Given the description of an element on the screen output the (x, y) to click on. 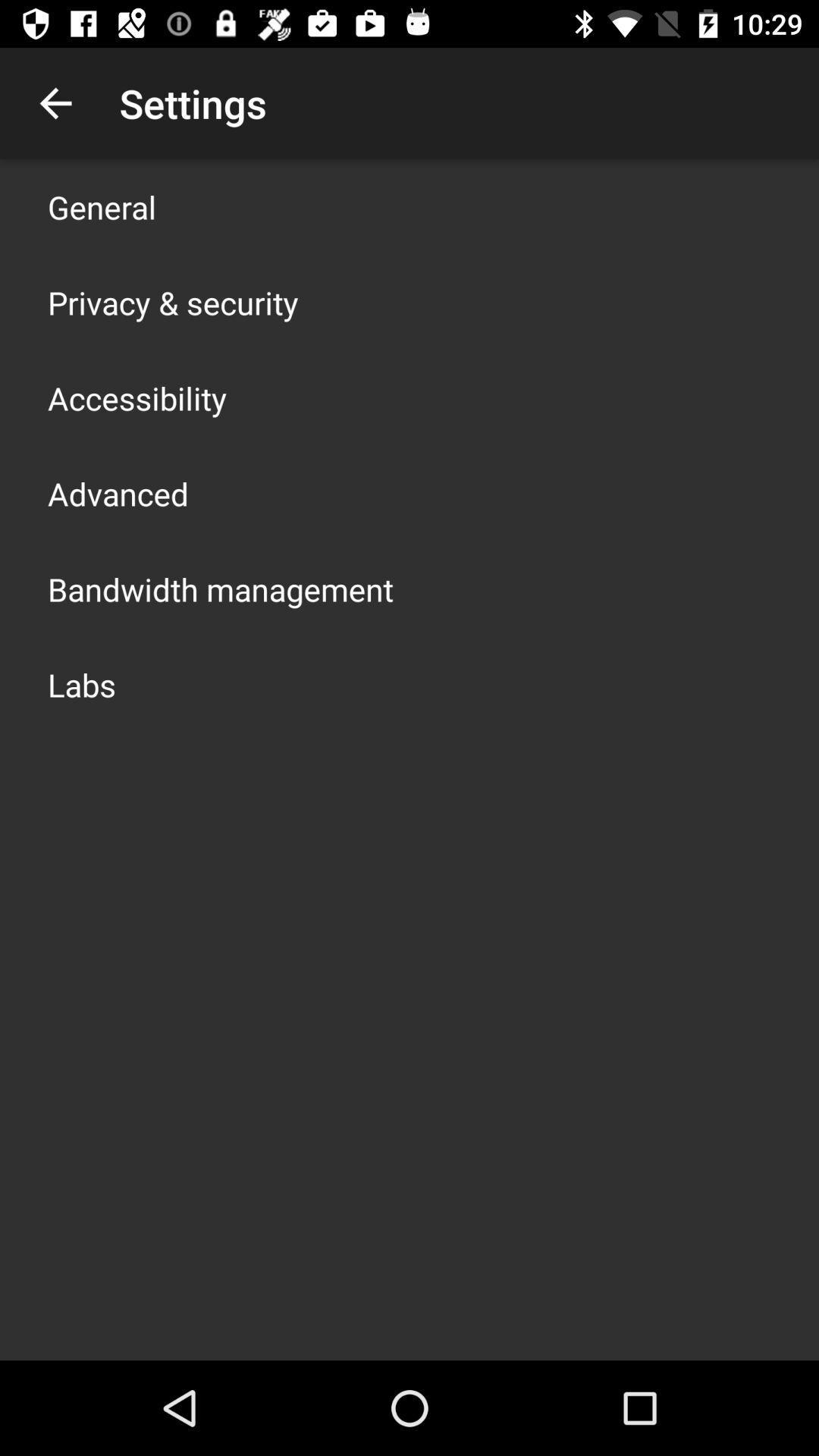
click the advanced (117, 493)
